Given the description of an element on the screen output the (x, y) to click on. 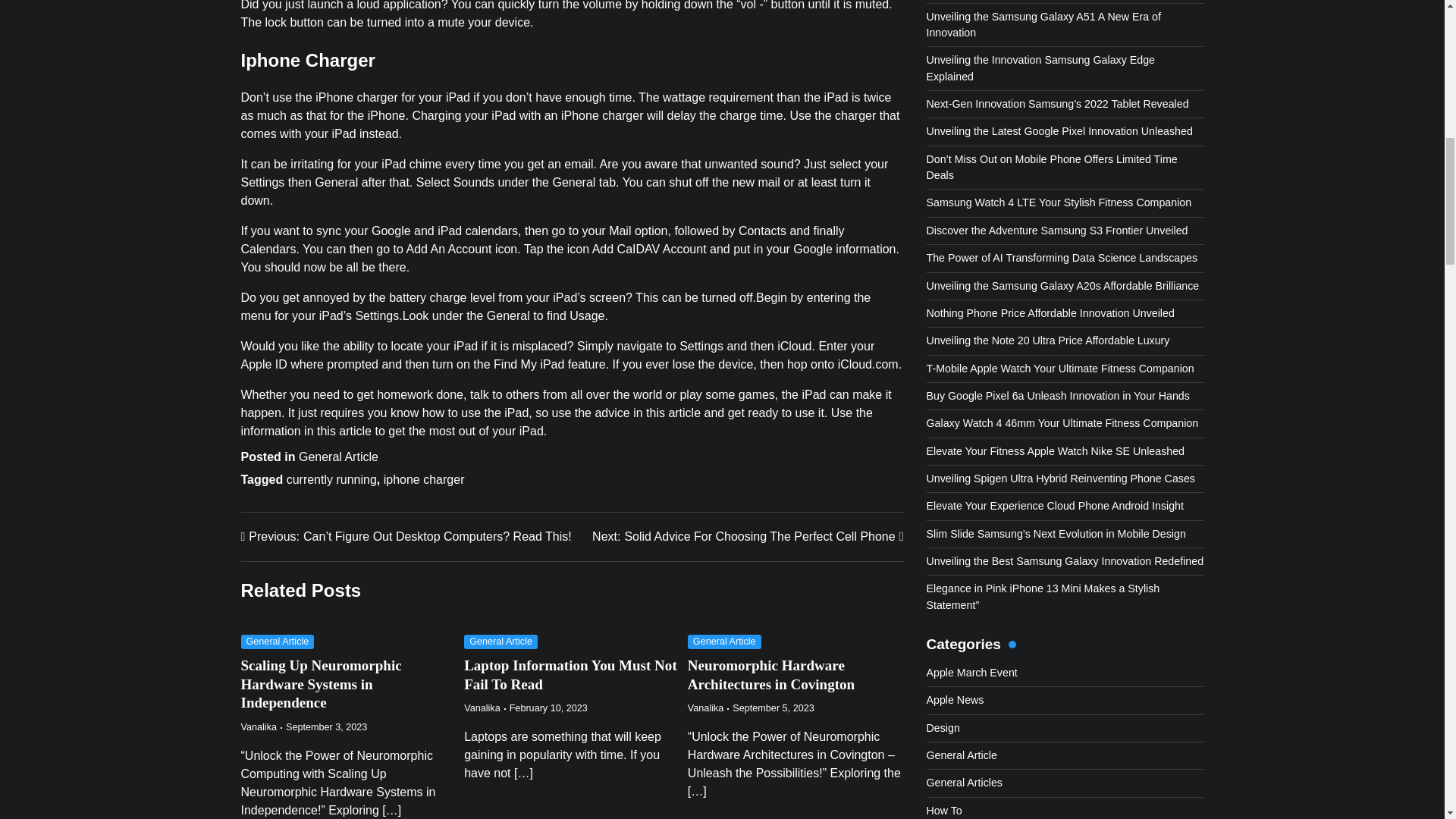
General Article (747, 536)
Neuromorphic Hardware Architectures in Covington (338, 456)
Vanalika (770, 674)
iphone charger (259, 726)
General Article (424, 479)
Vanalika (500, 641)
General Article (705, 707)
Vanalika (277, 641)
Laptop Information You Must Not Fail To Read (482, 707)
currently running (570, 674)
Scaling Up Neuromorphic Hardware Systems in Independence (331, 479)
General Article (321, 684)
